Given the description of an element on the screen output the (x, y) to click on. 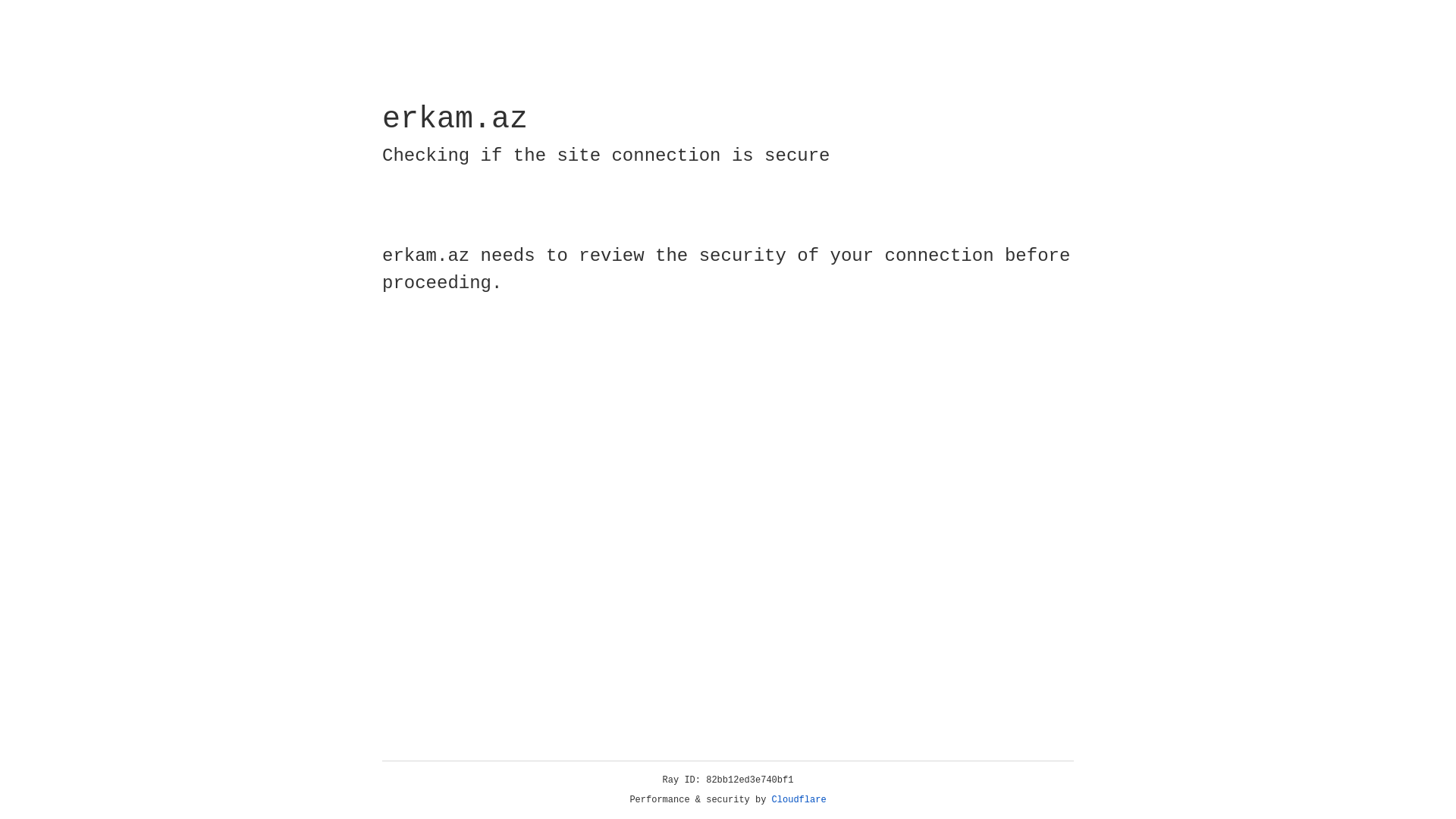
Cloudflare Element type: text (798, 799)
